Given the description of an element on the screen output the (x, y) to click on. 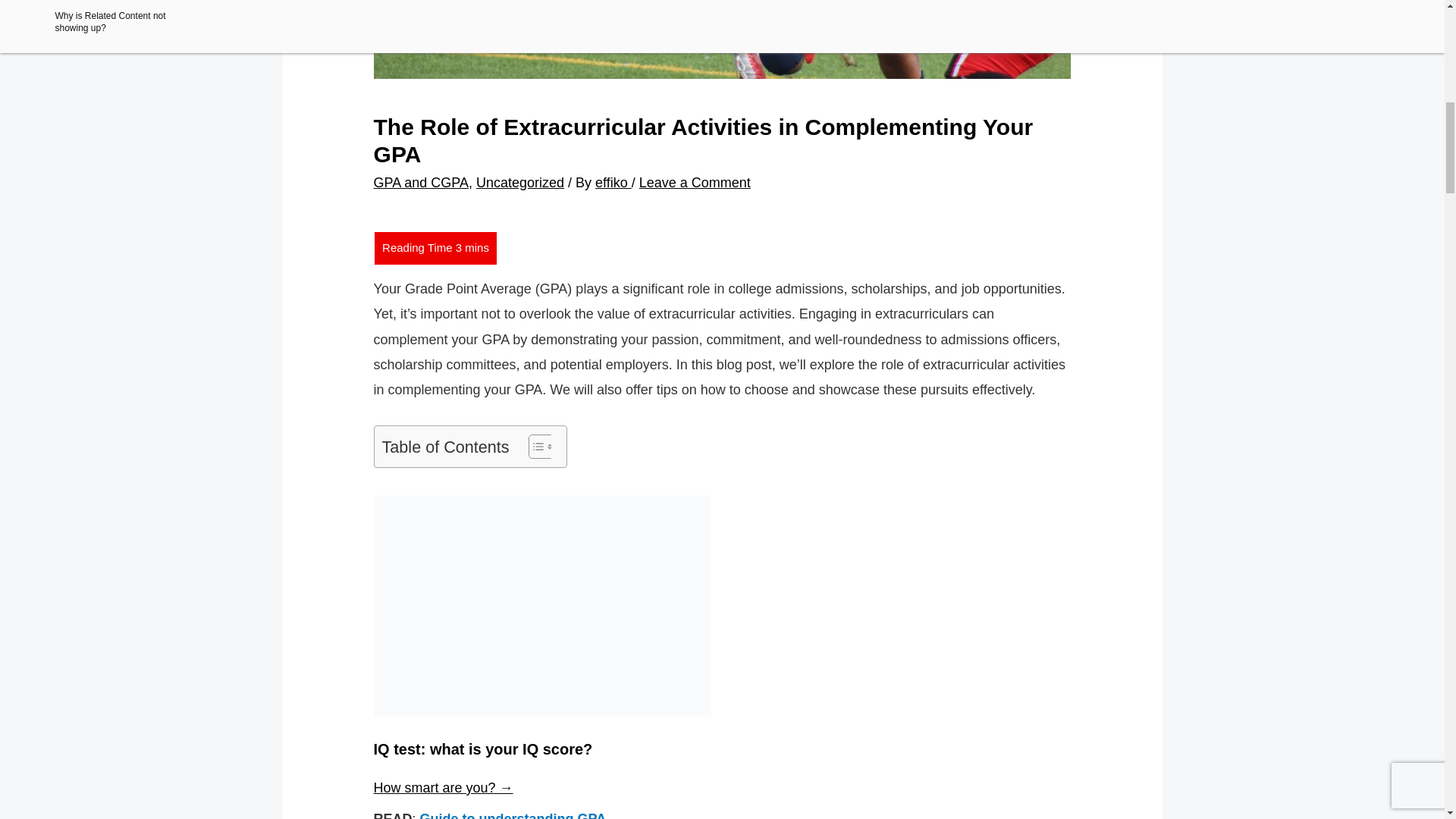
View all posts by effiko (613, 182)
